Given the description of an element on the screen output the (x, y) to click on. 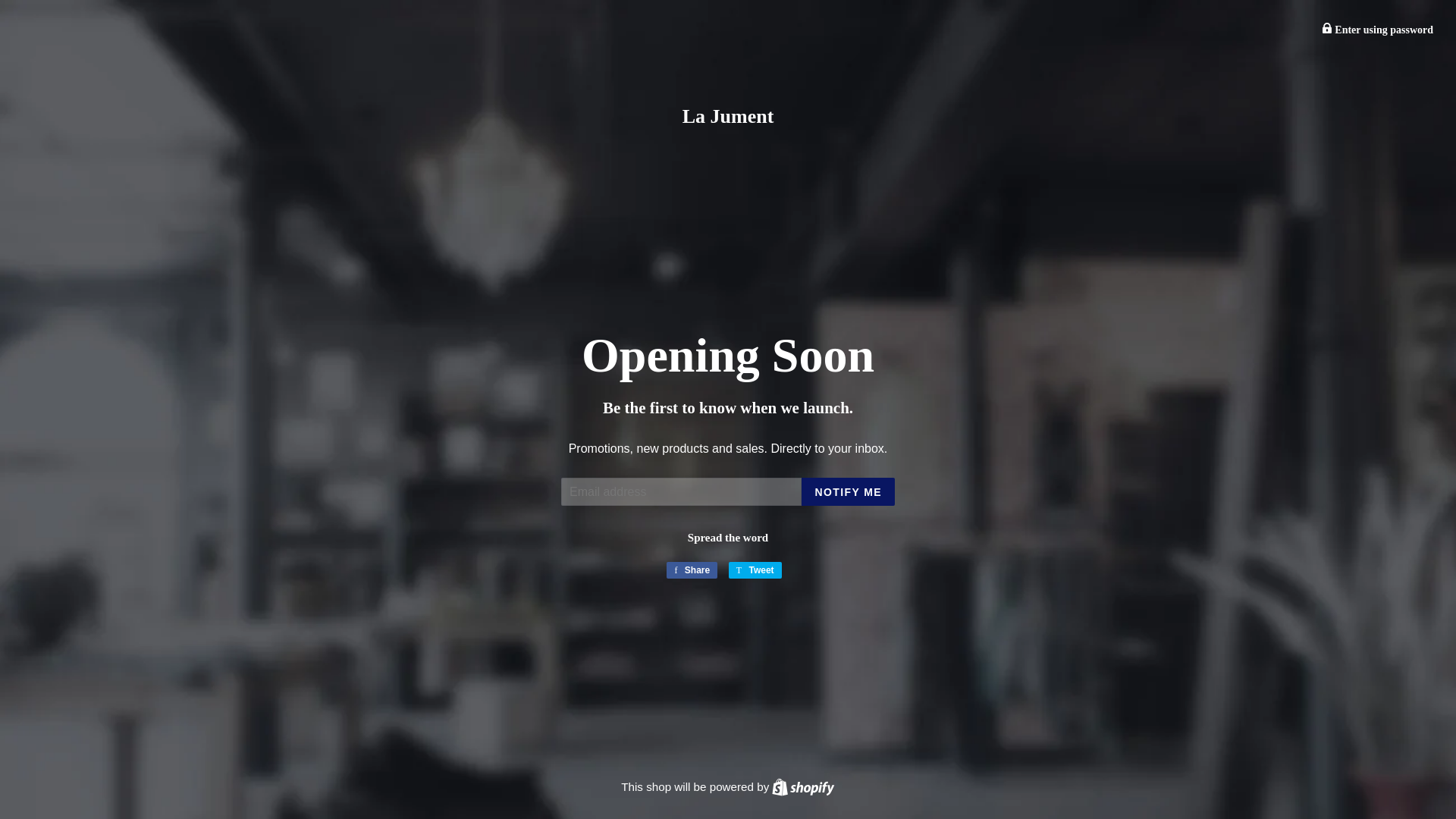
Create your own online store with Shopify (802, 786)
Tweet on Twitter (691, 569)
Lock icon (755, 569)
Shopify logo (755, 569)
NOTIFY ME (802, 786)
Share on Facebook (1327, 27)
Lock icon Enter using password (802, 787)
